Given the description of an element on the screen output the (x, y) to click on. 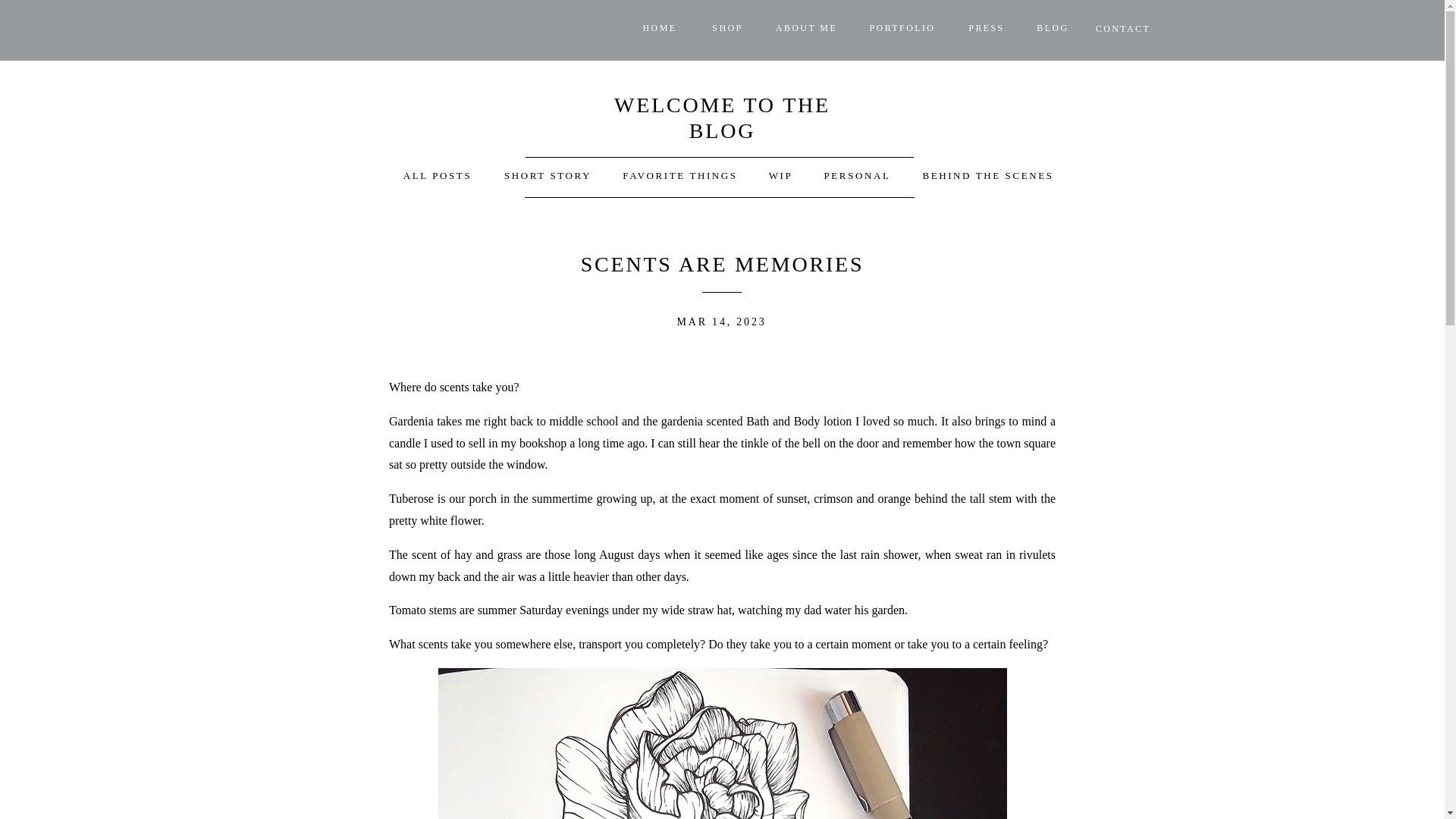
CONTACT (1123, 30)
PRESS (986, 30)
BEHIND THE SCENES (987, 177)
PORTFOLIO (902, 30)
WIP (780, 177)
BLOG (1053, 30)
SHORT STORY (547, 177)
FAVORITE THINGS (679, 177)
ALL POSTS (437, 177)
SHOP (727, 30)
